Given the description of an element on the screen output the (x, y) to click on. 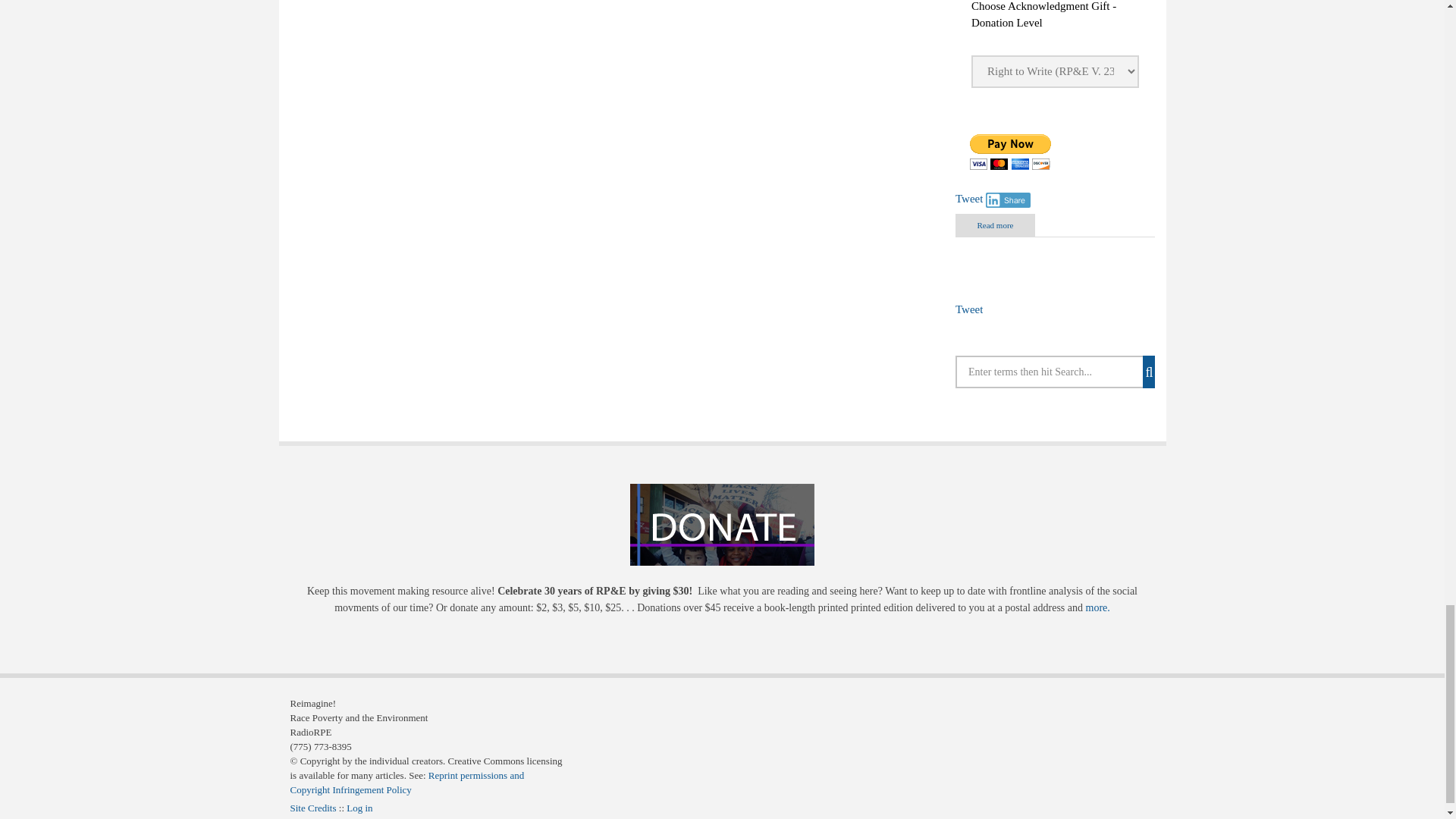
Enter terms then hit Search... (1054, 371)
